Given the description of an element on the screen output the (x, y) to click on. 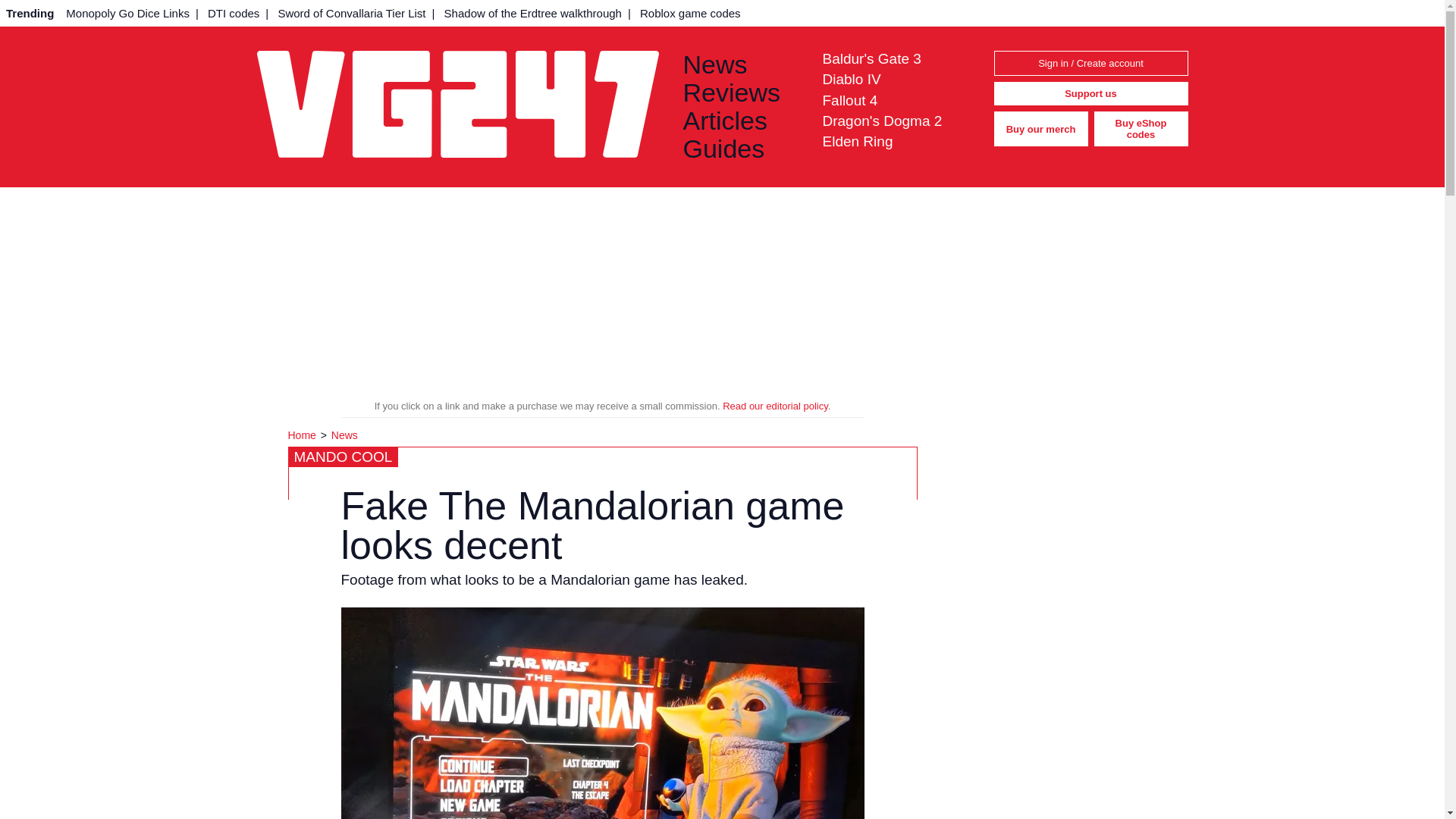
DTI codes (233, 13)
DTI codes (233, 13)
Shadow of the Erdtree walkthrough (532, 13)
News (344, 435)
Buy our merch (1039, 128)
Sword of Convallaria Tier List (350, 13)
Fallout 4 (849, 100)
Dragon's Dogma 2 (882, 120)
Elden Ring (857, 141)
News (739, 64)
